Given the description of an element on the screen output the (x, y) to click on. 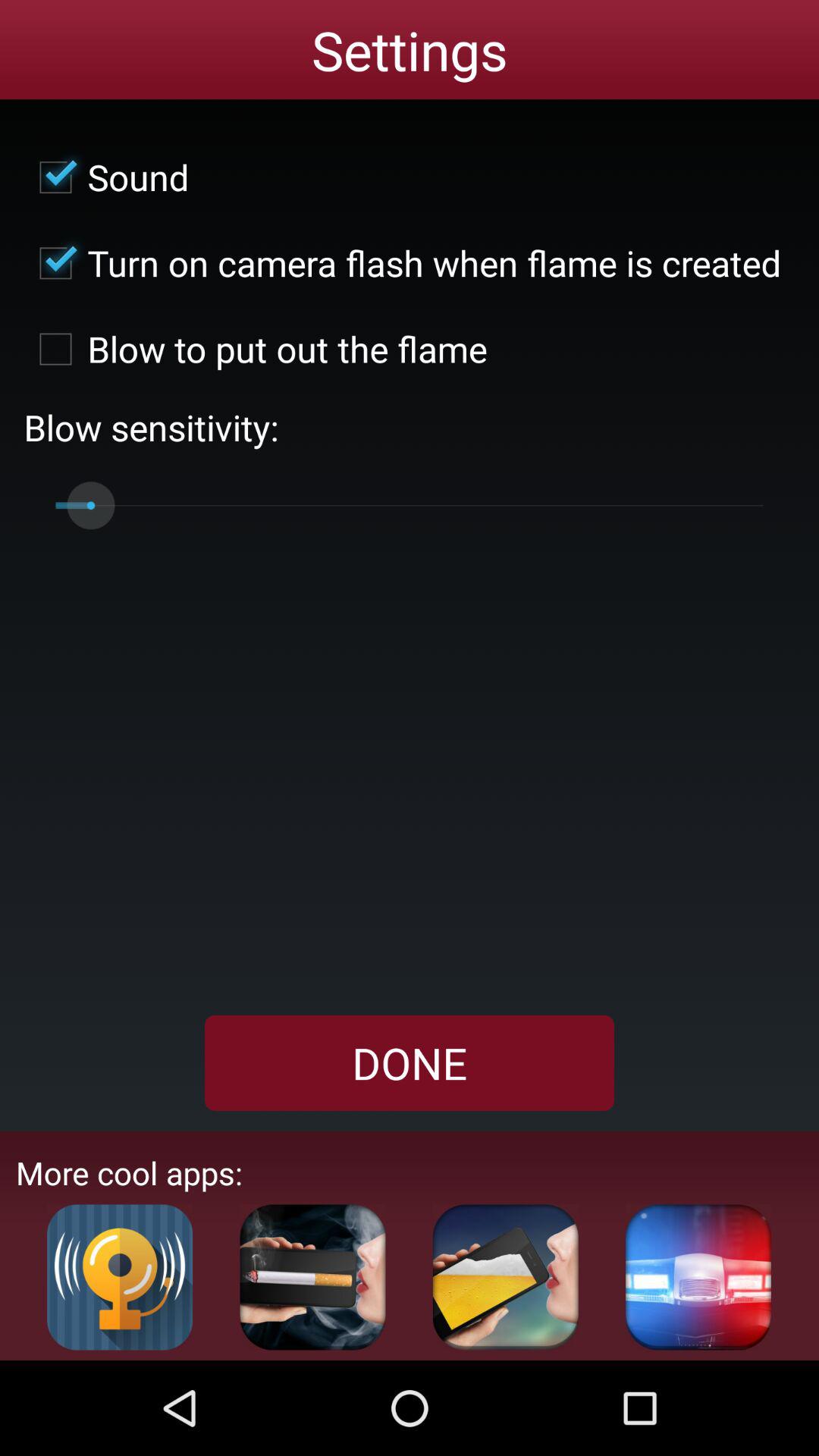
click on first check box in settings (106, 177)
select the second text below settings (403, 263)
select the third option in the settings (255, 349)
click the first image in the more cool apps (119, 1278)
